Given the description of an element on the screen output the (x, y) to click on. 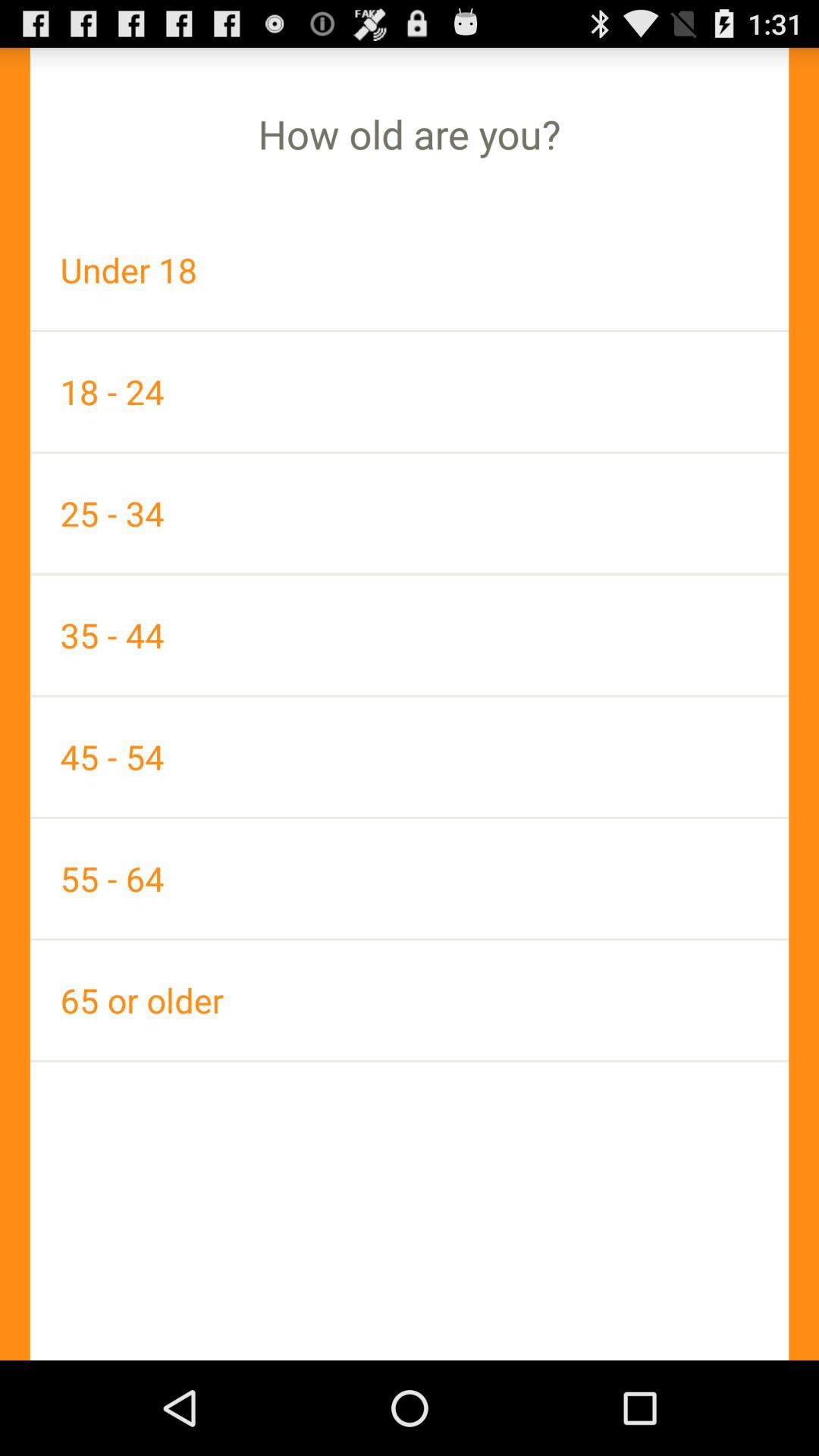
swipe to the 55 - 64 app (409, 878)
